Given the description of an element on the screen output the (x, y) to click on. 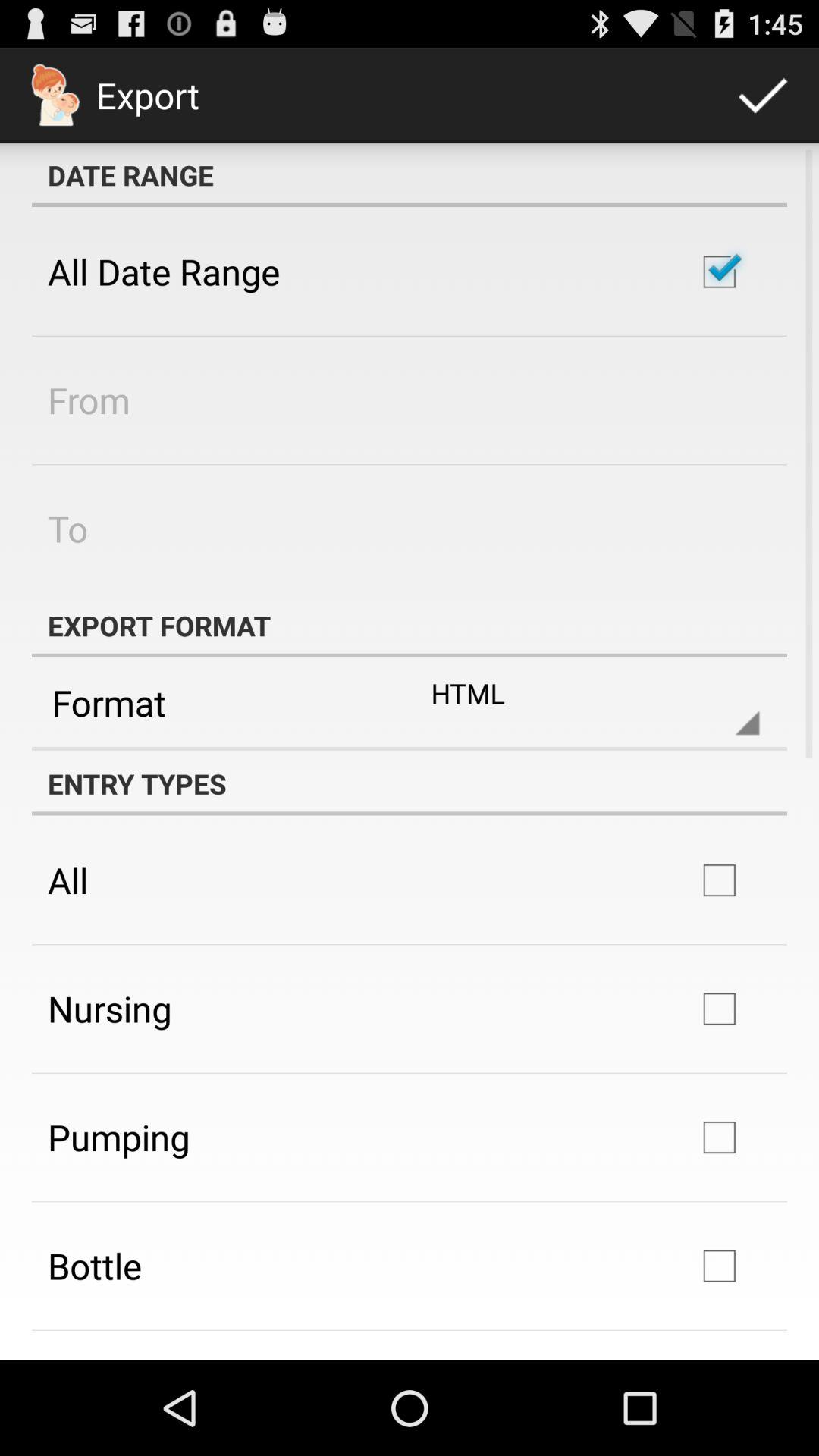
swipe until the bottle (94, 1265)
